Given the description of an element on the screen output the (x, y) to click on. 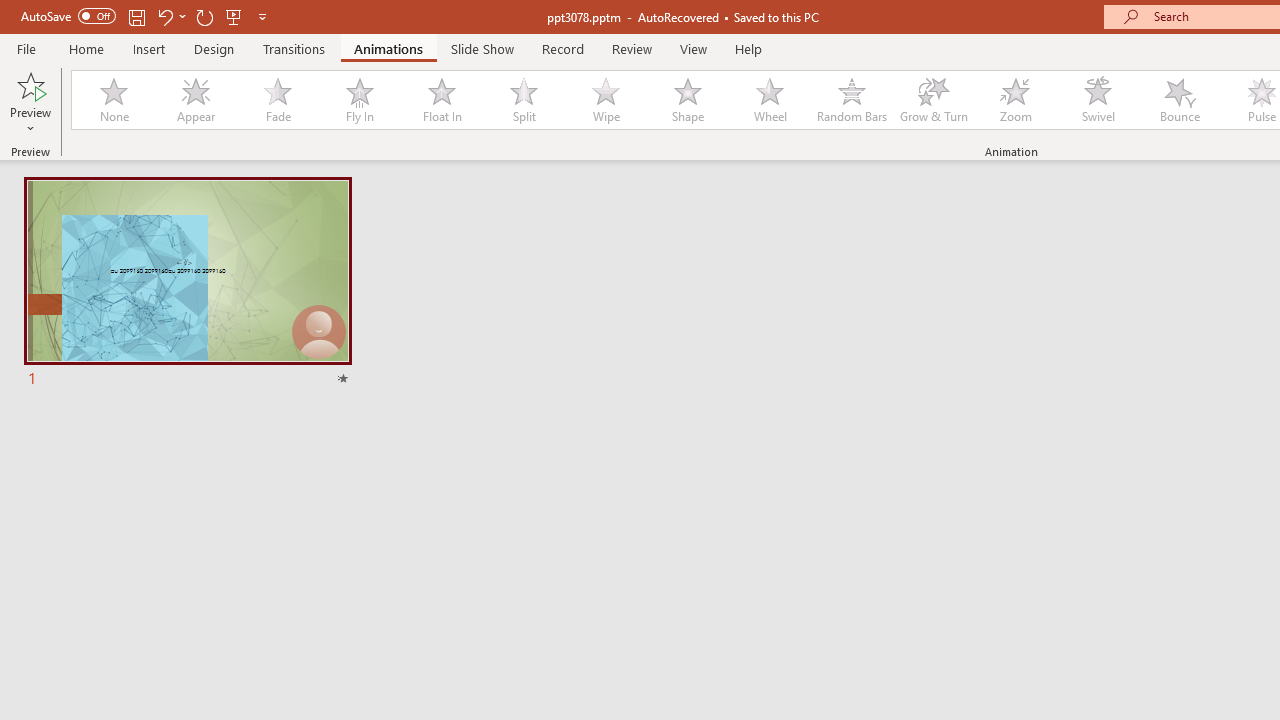
Swivel (1098, 100)
Bounce (1180, 100)
